Given the description of an element on the screen output the (x, y) to click on. 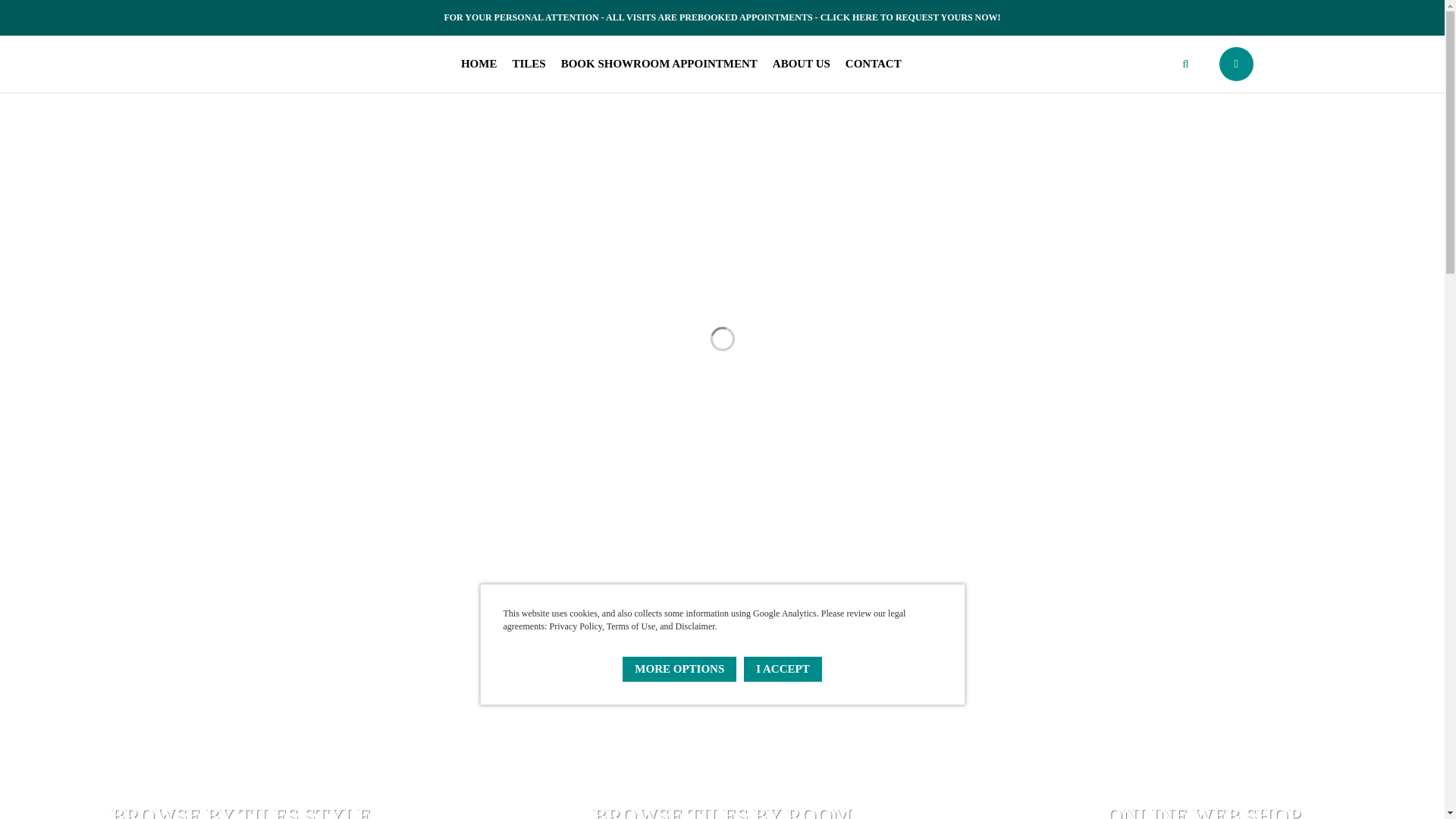
ABOUT US (801, 63)
BROWSE TILES BY ROOM (722, 703)
Shopping cart (1236, 63)
HOME (479, 63)
CONTACT (873, 63)
TILES (528, 63)
BOOK SHOWROOM APPOINTMENT (658, 63)
BROWSE BY TILES STYLE (240, 703)
ONLINE WEB SHOP (1203, 703)
CLICK HERE TO REQUEST YOURS NOW (909, 17)
